Given the description of an element on the screen output the (x, y) to click on. 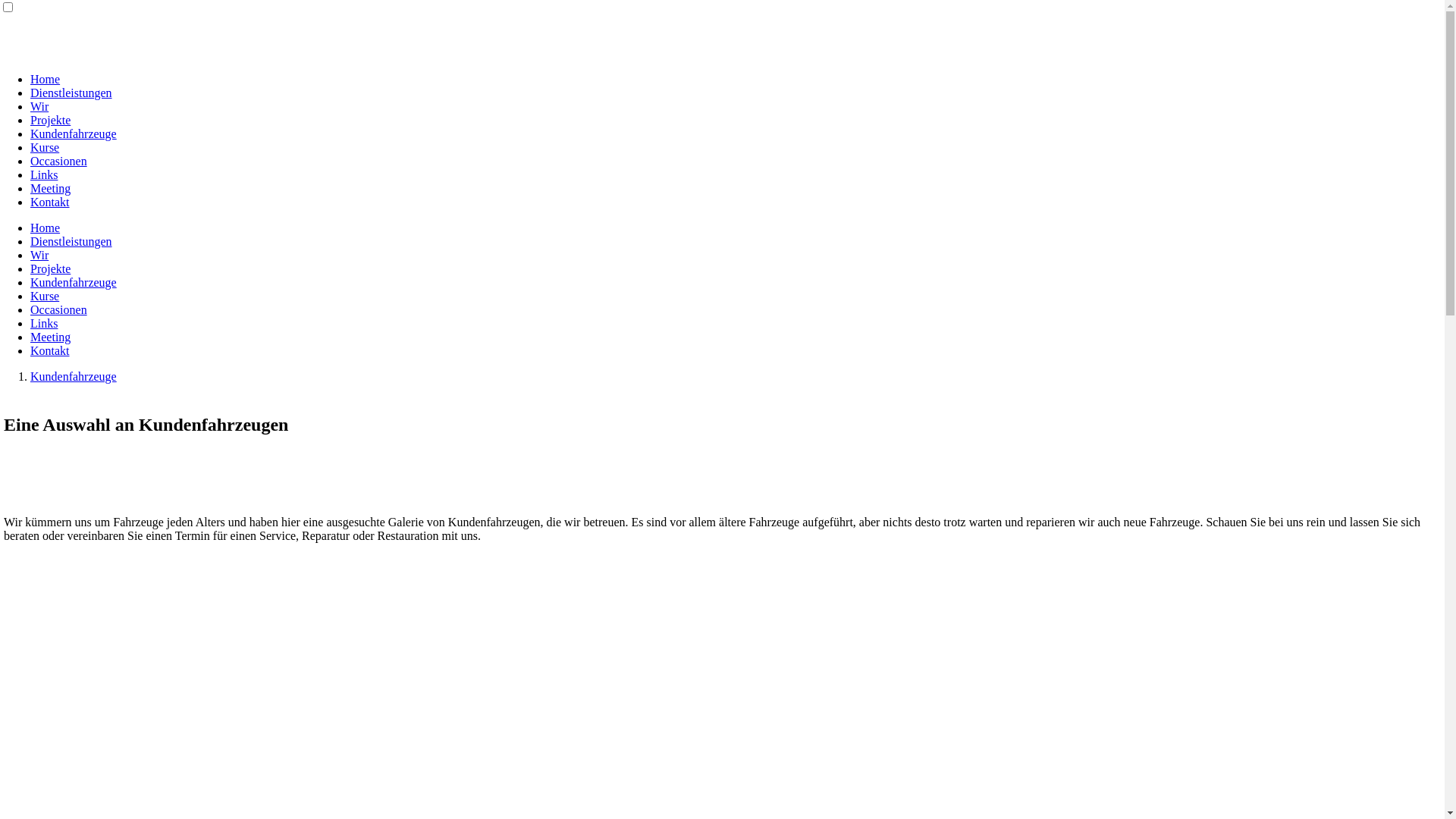
Meeting Element type: text (50, 336)
Projekte Element type: text (50, 119)
Links Element type: text (43, 322)
Projekte Element type: text (50, 268)
Kundenfahrzeuge Element type: text (73, 376)
Dienstleistungen Element type: text (71, 92)
Kundenfahrzeuge Element type: text (73, 133)
Kurse Element type: text (44, 147)
Wir Element type: text (39, 254)
Kontakt Element type: text (49, 201)
Kontakt Element type: text (49, 350)
Home Element type: text (44, 227)
Wir Element type: text (39, 106)
Occasionen Element type: text (58, 160)
Home Element type: text (44, 78)
Links Element type: text (43, 174)
Meeting Element type: text (50, 188)
Kurse Element type: text (44, 295)
Dienstleistungen Element type: text (71, 241)
Occasionen Element type: text (58, 309)
Kundenfahrzeuge Element type: text (73, 282)
